Given the description of an element on the screen output the (x, y) to click on. 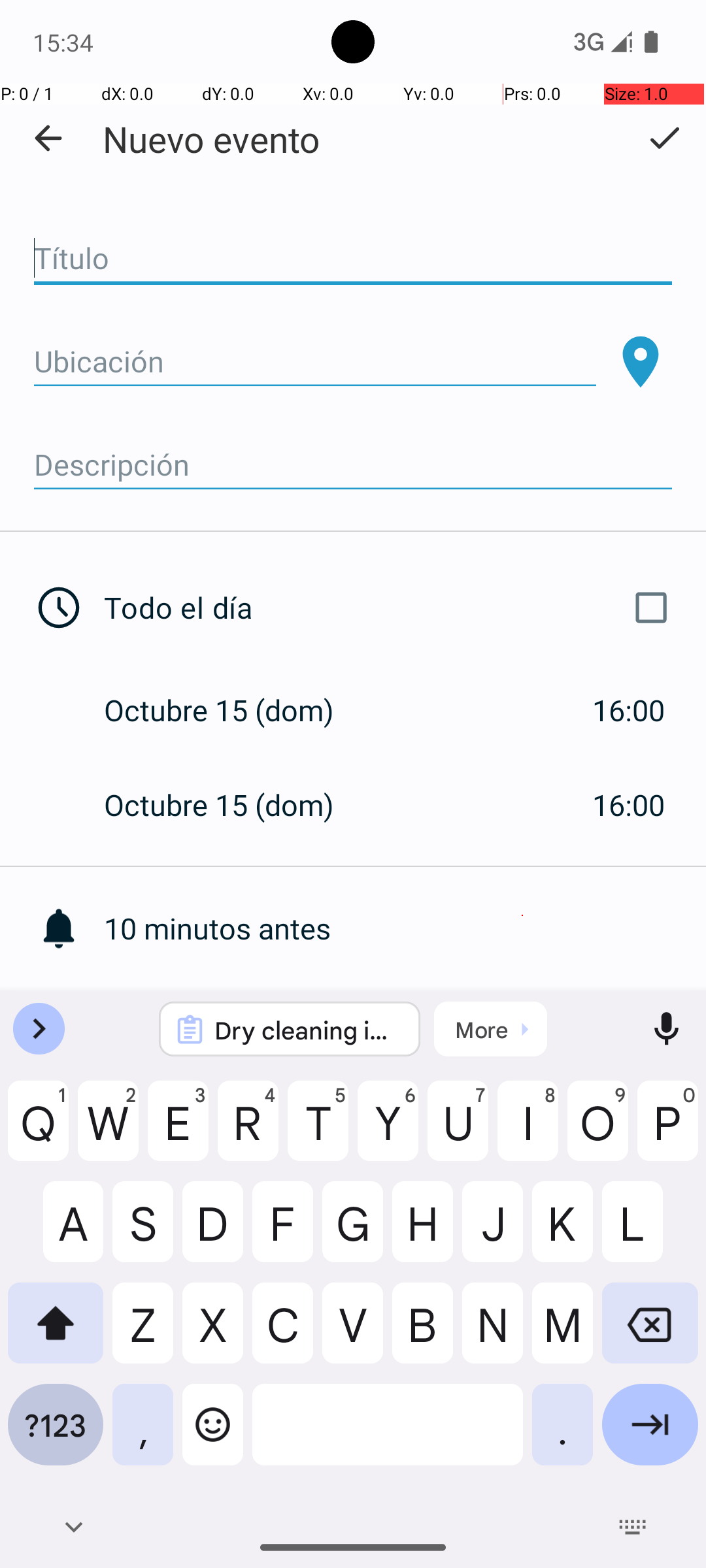
Guardar Element type: android.widget.Button (664, 137)
Título Element type: android.widget.EditText (352, 258)
Ubicación Element type: android.widget.EditText (314, 361)
Descripción Element type: android.widget.EditText (352, 465)
Octubre 15 (dom) Element type: android.widget.TextView (232, 709)
16:00 Element type: android.widget.TextView (628, 709)
10 minutos antes Element type: android.widget.TextView (404, 927)
Agregar otro recordatorio Element type: android.widget.TextView (404, 1022)
Todo el día Element type: android.widget.CheckBox (390, 607)
Dry cleaning is ready for pick-up. Element type: android.widget.TextView (306, 1029)
